Given the description of an element on the screen output the (x, y) to click on. 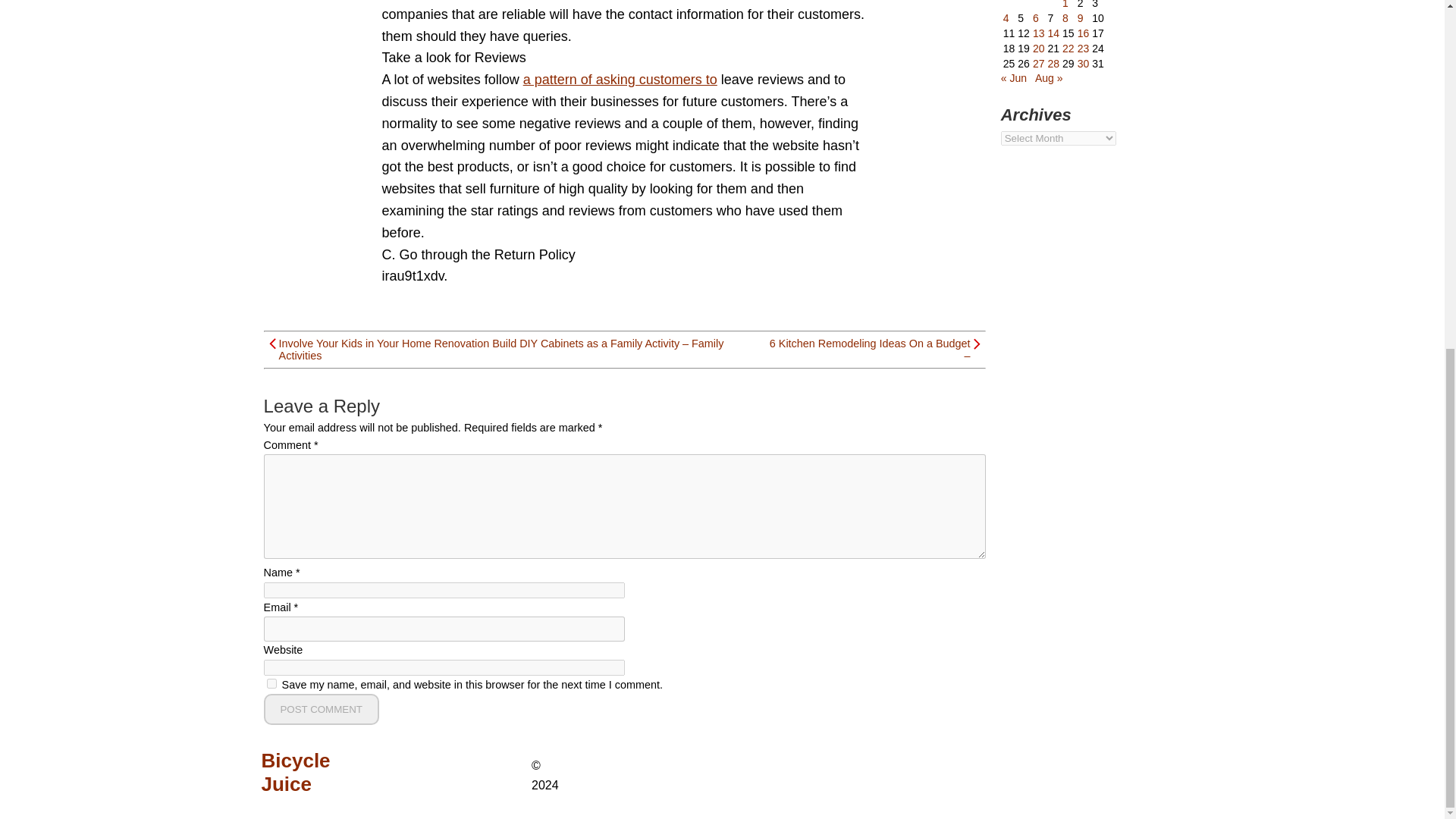
22 (1068, 48)
Bicycle Juice (317, 772)
Post Comment (320, 708)
Post Comment (320, 708)
13 (1038, 33)
27 (1038, 63)
23 (1083, 48)
20 (1038, 48)
28 (1052, 63)
16 (1083, 33)
a pattern of asking customers to (619, 79)
14 (1052, 33)
yes (271, 683)
30 (1083, 63)
